Given the description of an element on the screen output the (x, y) to click on. 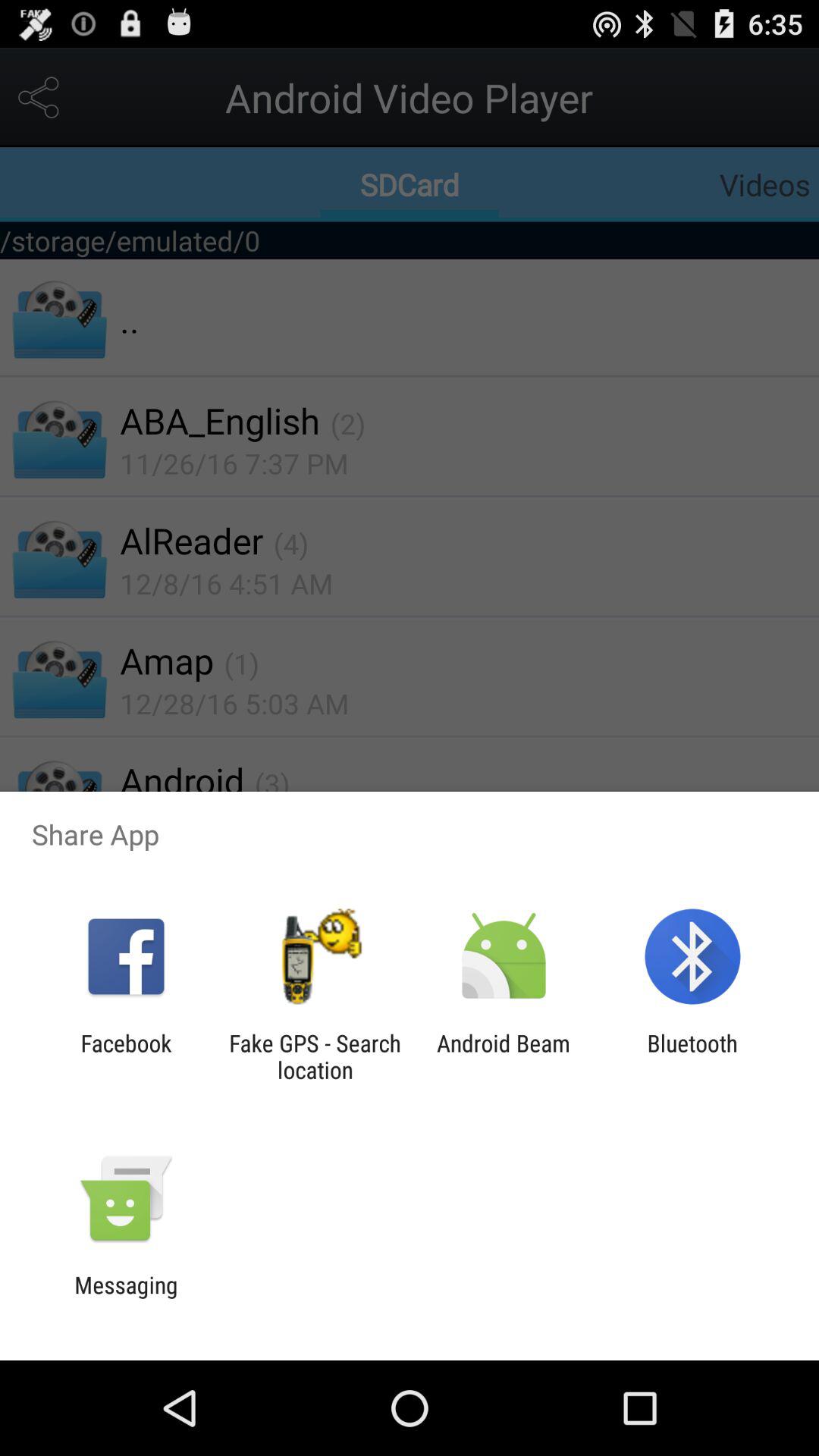
click the icon to the right of the facebook item (314, 1056)
